Given the description of an element on the screen output the (x, y) to click on. 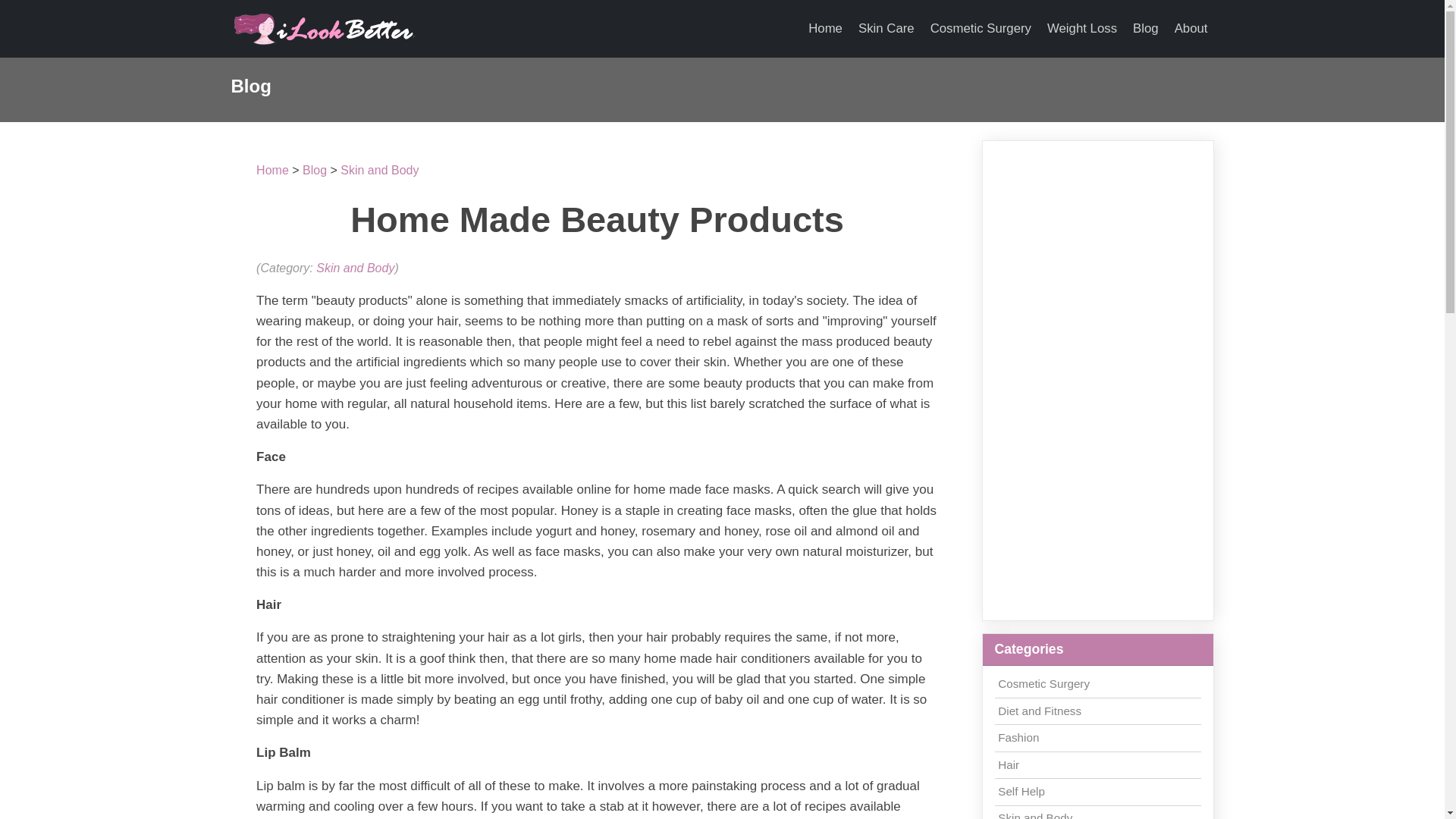
Diet and Fitness (1039, 710)
Home (272, 169)
Cosmetic Surgery (1043, 683)
Home (825, 29)
Fashion (1018, 737)
Skin and Body (379, 169)
Hair (1008, 764)
Blog (1145, 29)
Skin and Body (1034, 815)
Weight Loss (1081, 29)
